Given the description of an element on the screen output the (x, y) to click on. 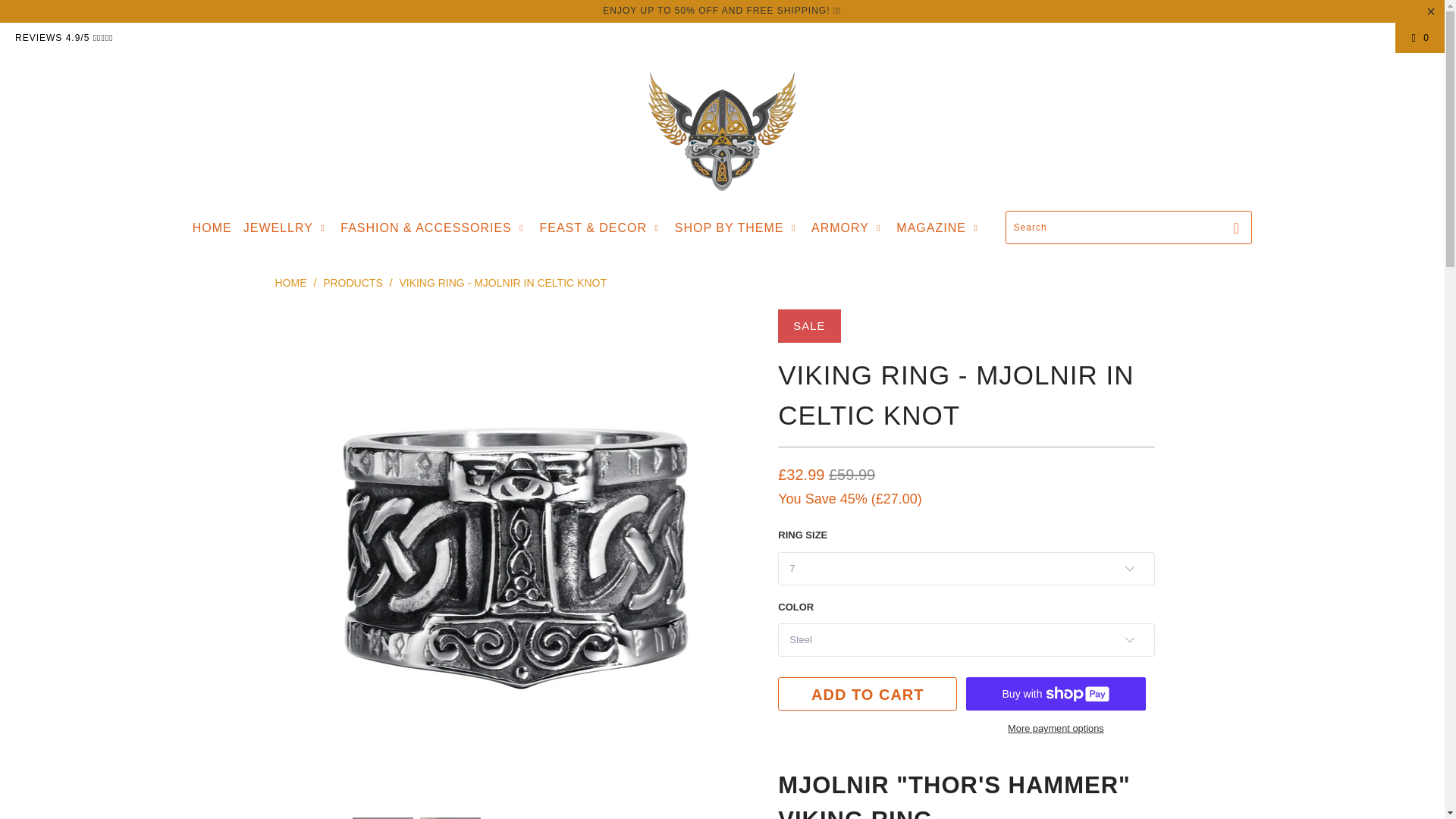
Valhalla Vikings  (290, 282)
Products (354, 282)
